Given the description of an element on the screen output the (x, y) to click on. 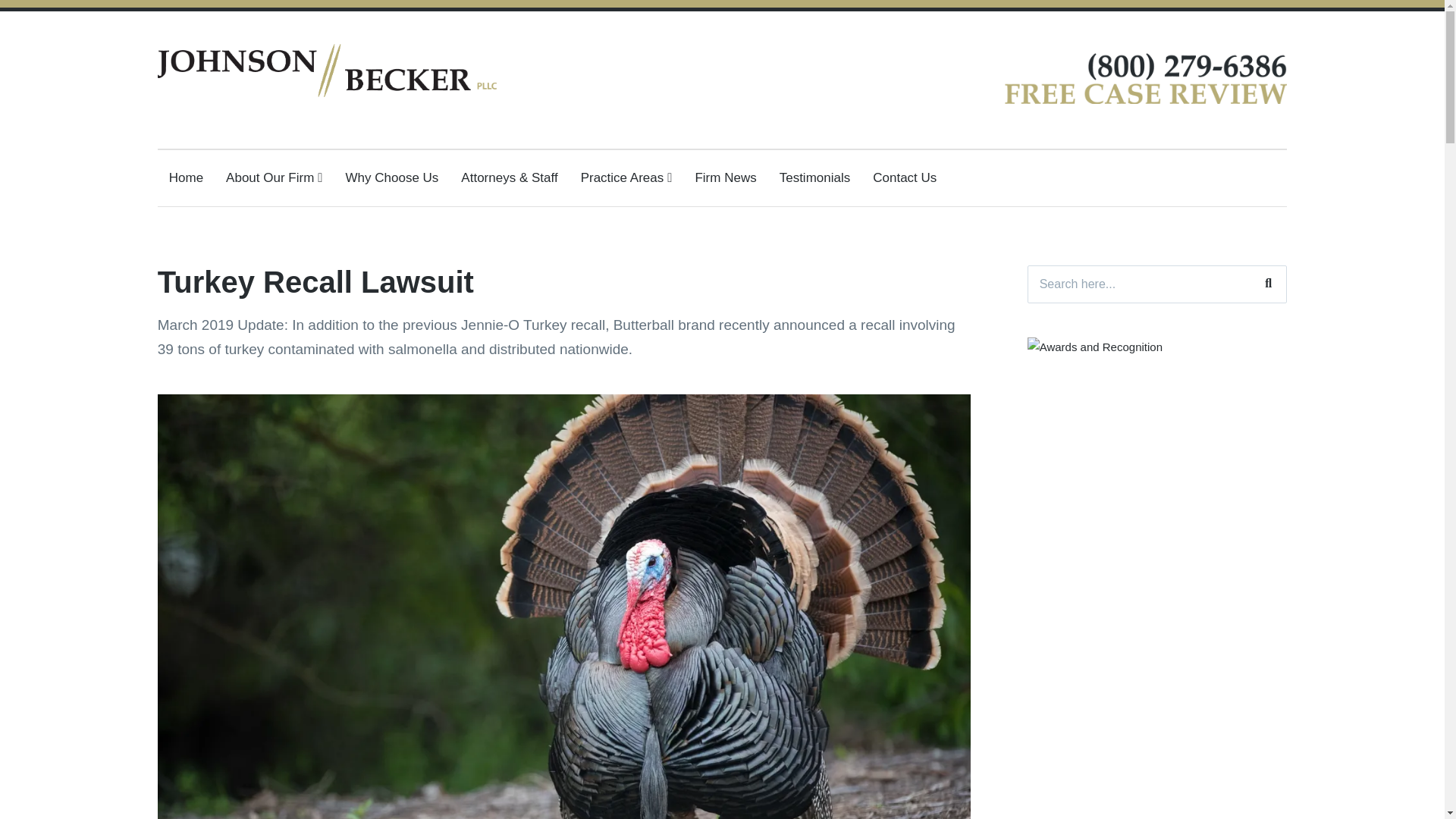
Contact Us (904, 177)
Practice Areas (626, 177)
About Our Firm (273, 177)
Testimonials (814, 177)
Home (185, 177)
Firm News (724, 177)
Why Choose Us (392, 177)
